Given the description of an element on the screen output the (x, y) to click on. 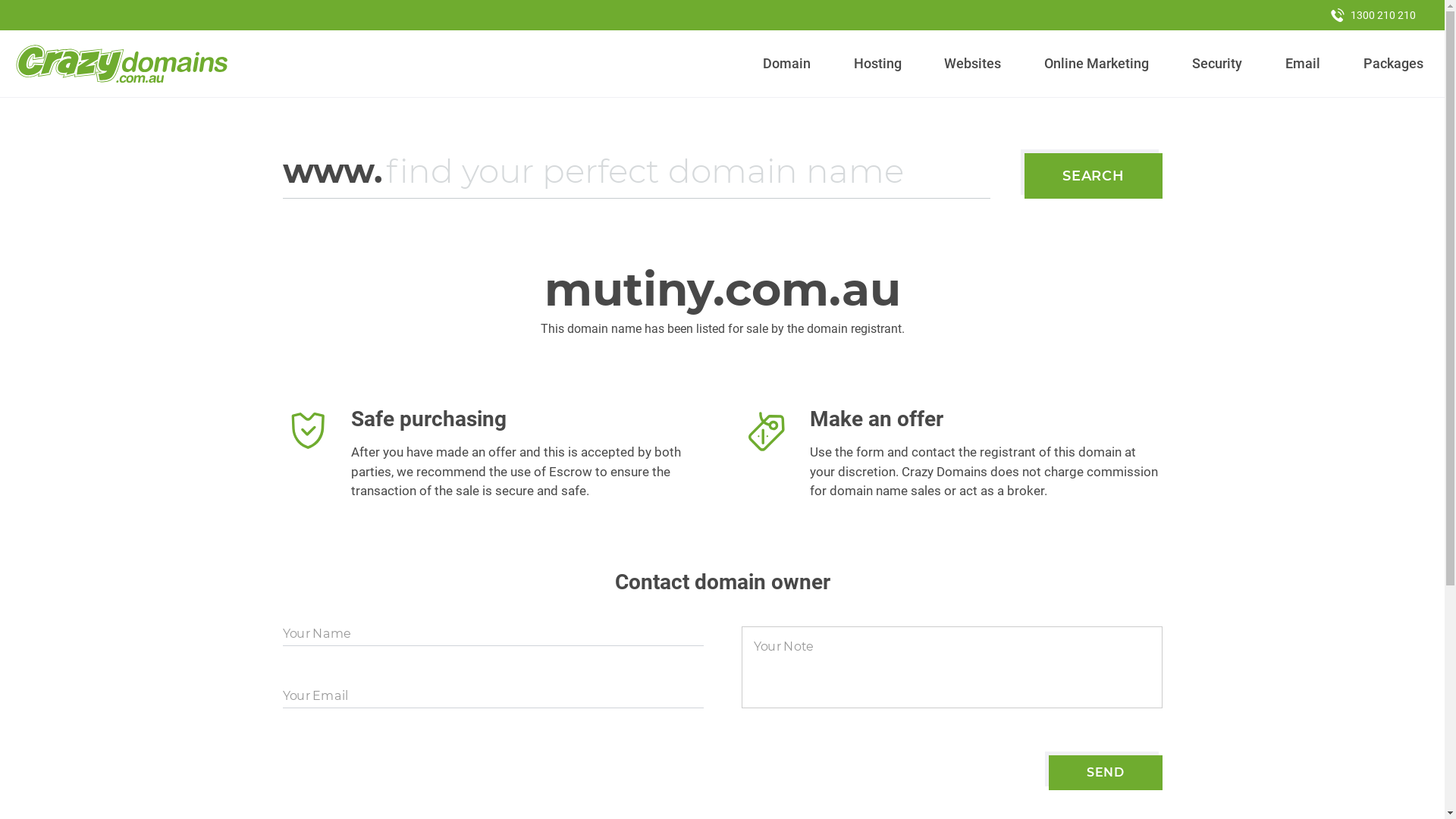
Security Element type: text (1217, 63)
1300 210 210 Element type: text (1373, 15)
SEND Element type: text (1105, 772)
Hosting Element type: text (877, 63)
Email Element type: text (1302, 63)
Domain Element type: text (786, 63)
Online Marketing Element type: text (1096, 63)
SEARCH Element type: text (1092, 175)
Packages Element type: text (1392, 63)
Websites Element type: text (972, 63)
